Given the description of an element on the screen output the (x, y) to click on. 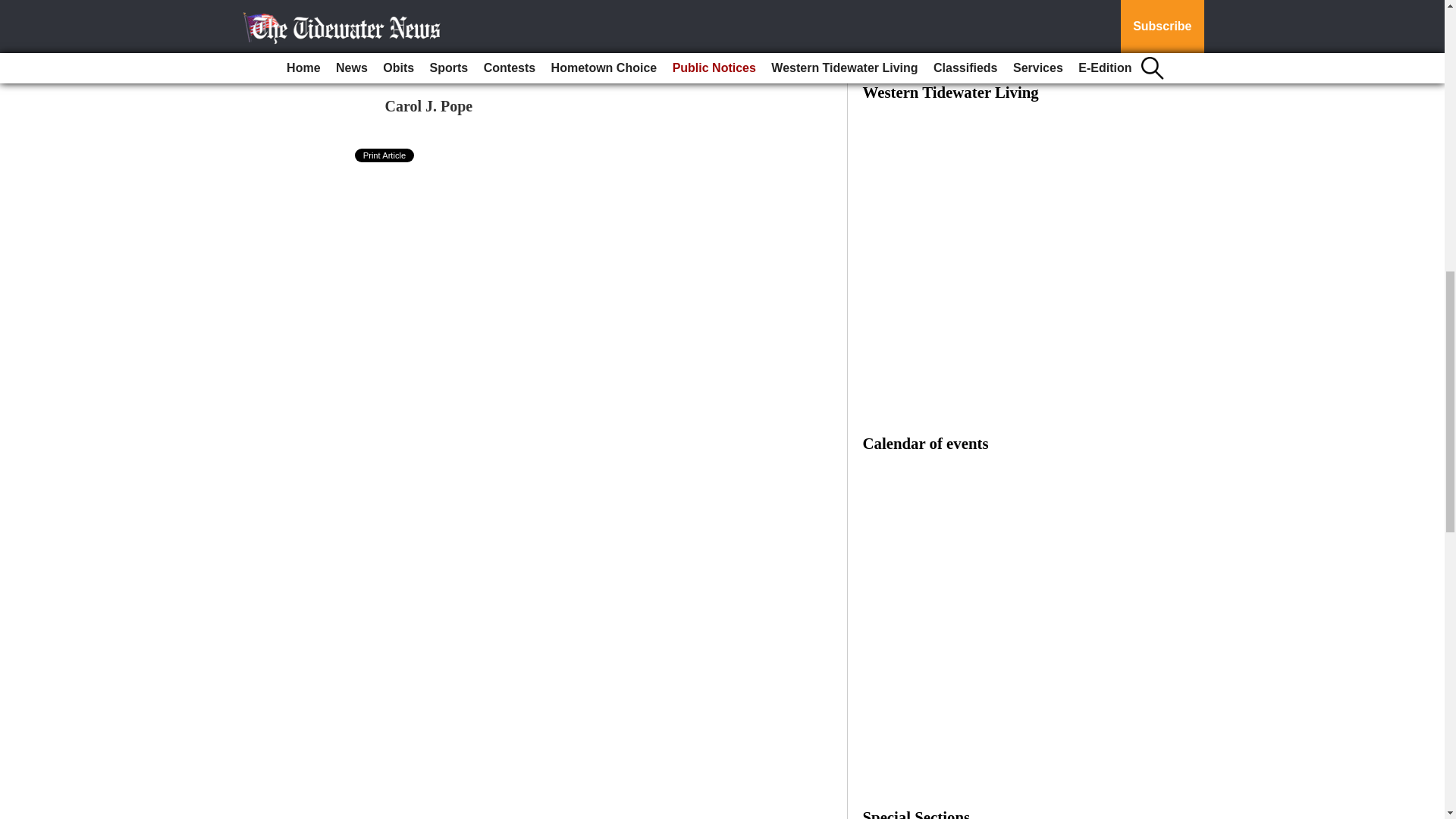
Print Article (384, 155)
Clarence L. Myrick (448, 54)
Clarence L. Myrick (448, 54)
Carol J. Pope (429, 105)
Carol J. Pope (429, 105)
James R. Kello IV (444, 5)
James R. Kello IV (444, 5)
